Given the description of an element on the screen output the (x, y) to click on. 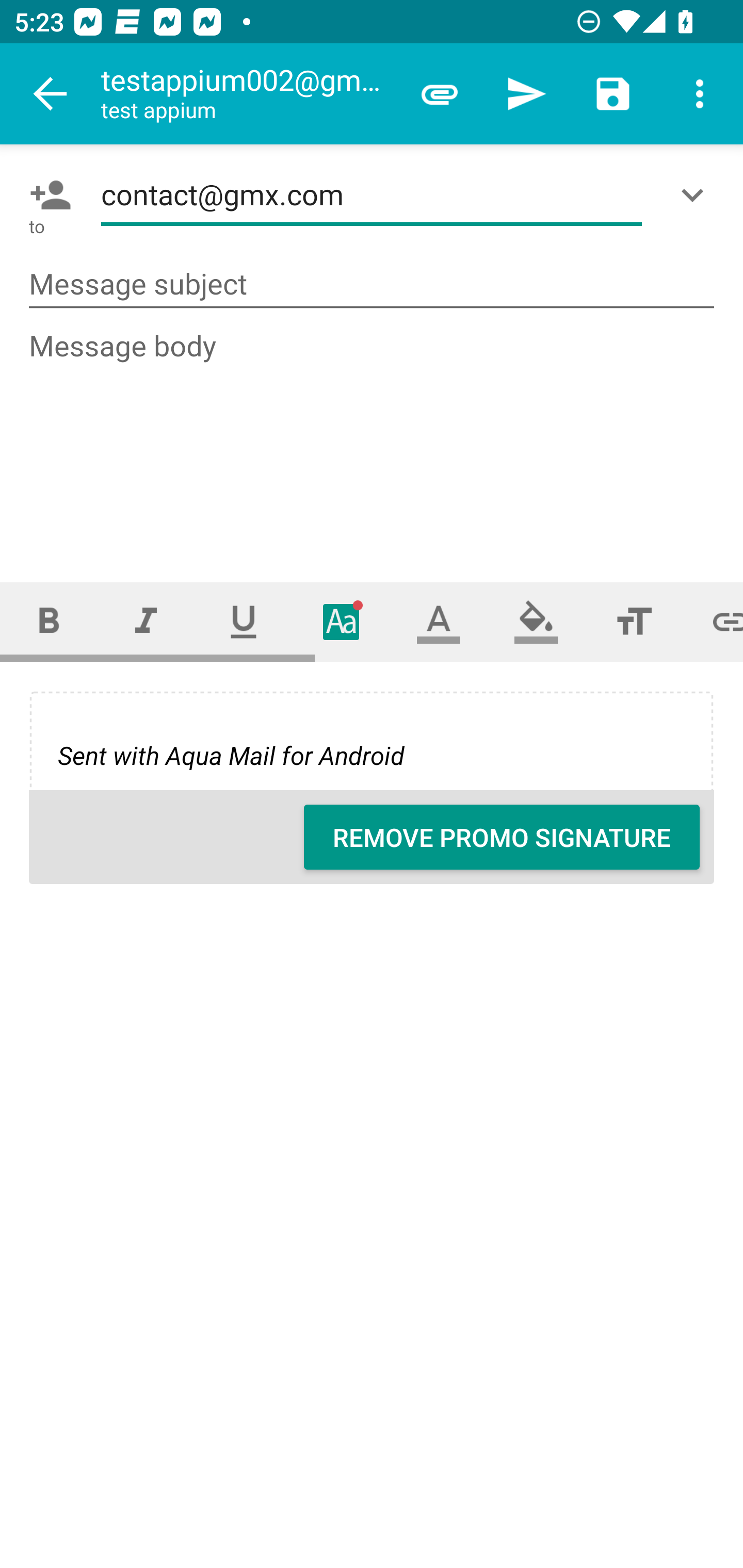
Navigate up (50, 93)
testappium002@gmail.com test appium (248, 93)
Attach (439, 93)
Send (525, 93)
Save (612, 93)
More options (699, 93)
Pick contact: To (46, 195)
Show/Add CC/BCC (696, 195)
contact@gmx.com (371, 195)
Message subject (371, 284)
Message body (372, 438)
Bold (48, 621)
Italic (145, 621)
Underline (243, 621)
Typeface (font) (341, 621)
Text color (438, 621)
Fill color (536, 621)
Font size (633, 621)
Set link (712, 621)
REMOVE PROMO SIGNATURE (501, 837)
